Given the description of an element on the screen output the (x, y) to click on. 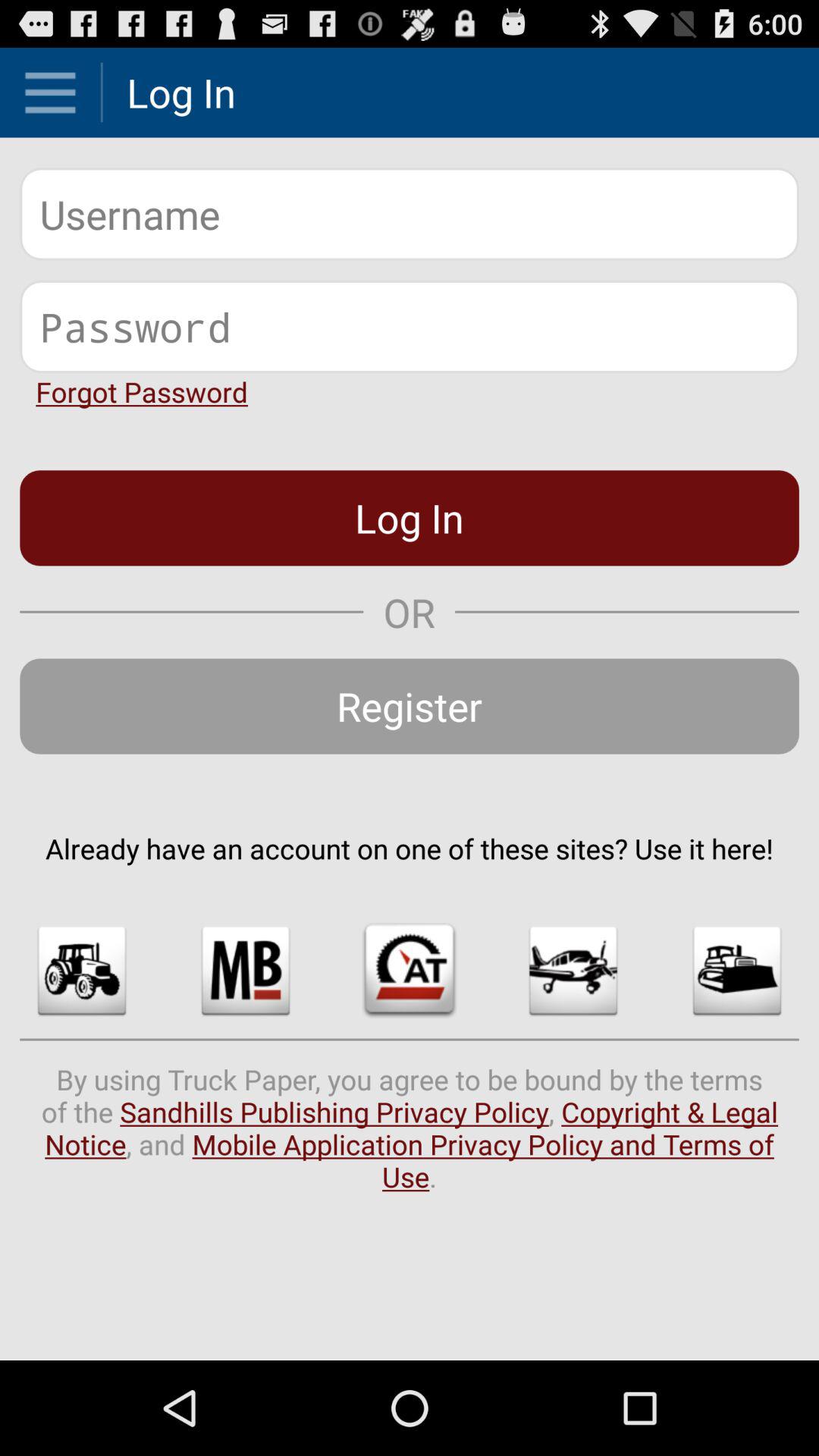
press the by using truck icon (409, 1127)
